Given the description of an element on the screen output the (x, y) to click on. 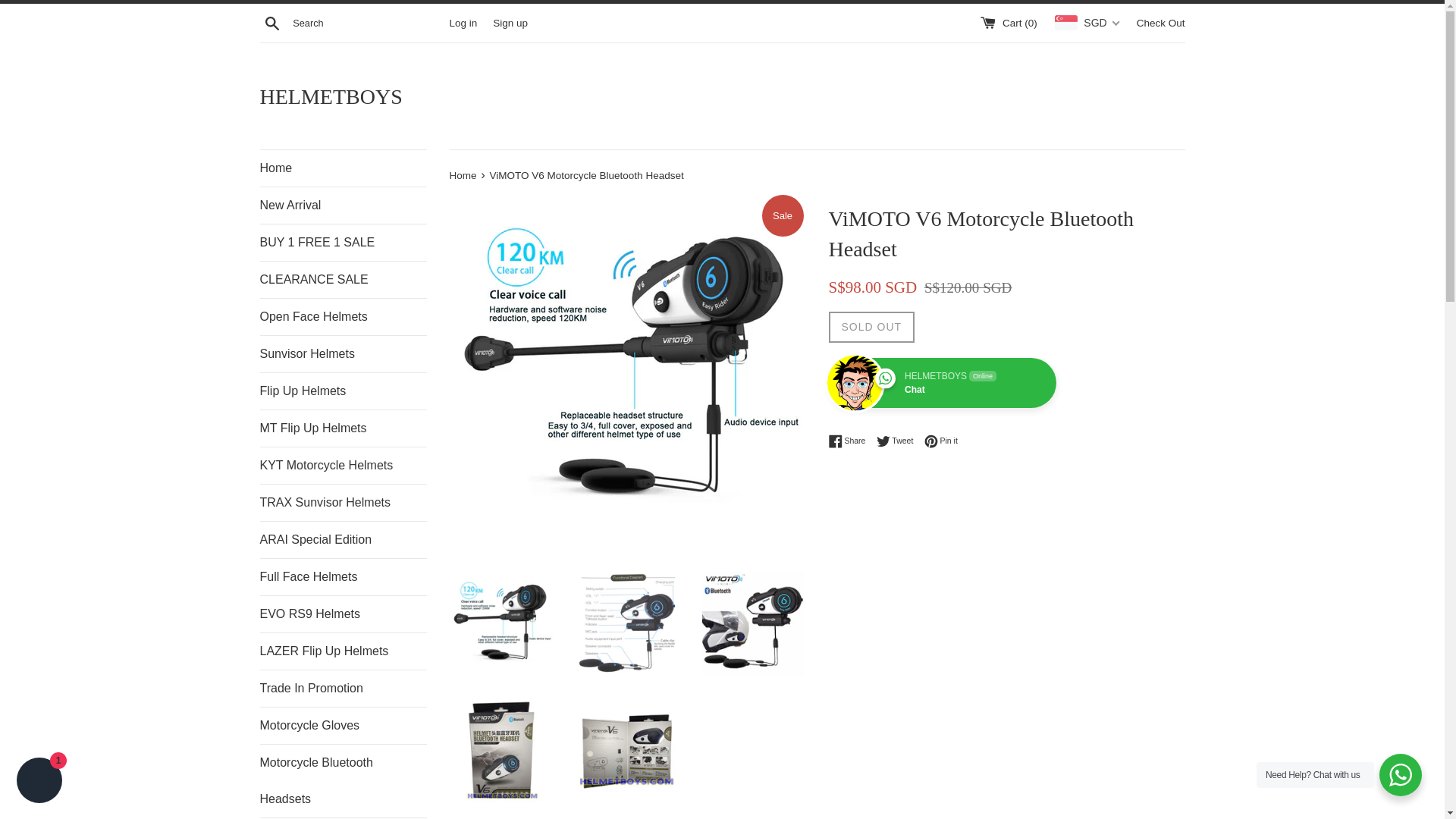
TRAX Sunvisor Helmets (342, 502)
Pin on Pinterest (941, 440)
Tweet on Twitter (898, 440)
Trade In Promotion (342, 688)
Motorcycle Gloves (342, 725)
CLEARANCE SALE (342, 279)
Shopify online store chat (38, 781)
Open Face Helmets (342, 316)
Log in (462, 21)
LAZER Flip Up Helmets (342, 651)
BUY 1 FREE 1 SALE (342, 242)
Share on Facebook (850, 440)
EVO RS9 Helmets (342, 614)
Back to the frontpage (463, 174)
Home (342, 167)
